Given the description of an element on the screen output the (x, y) to click on. 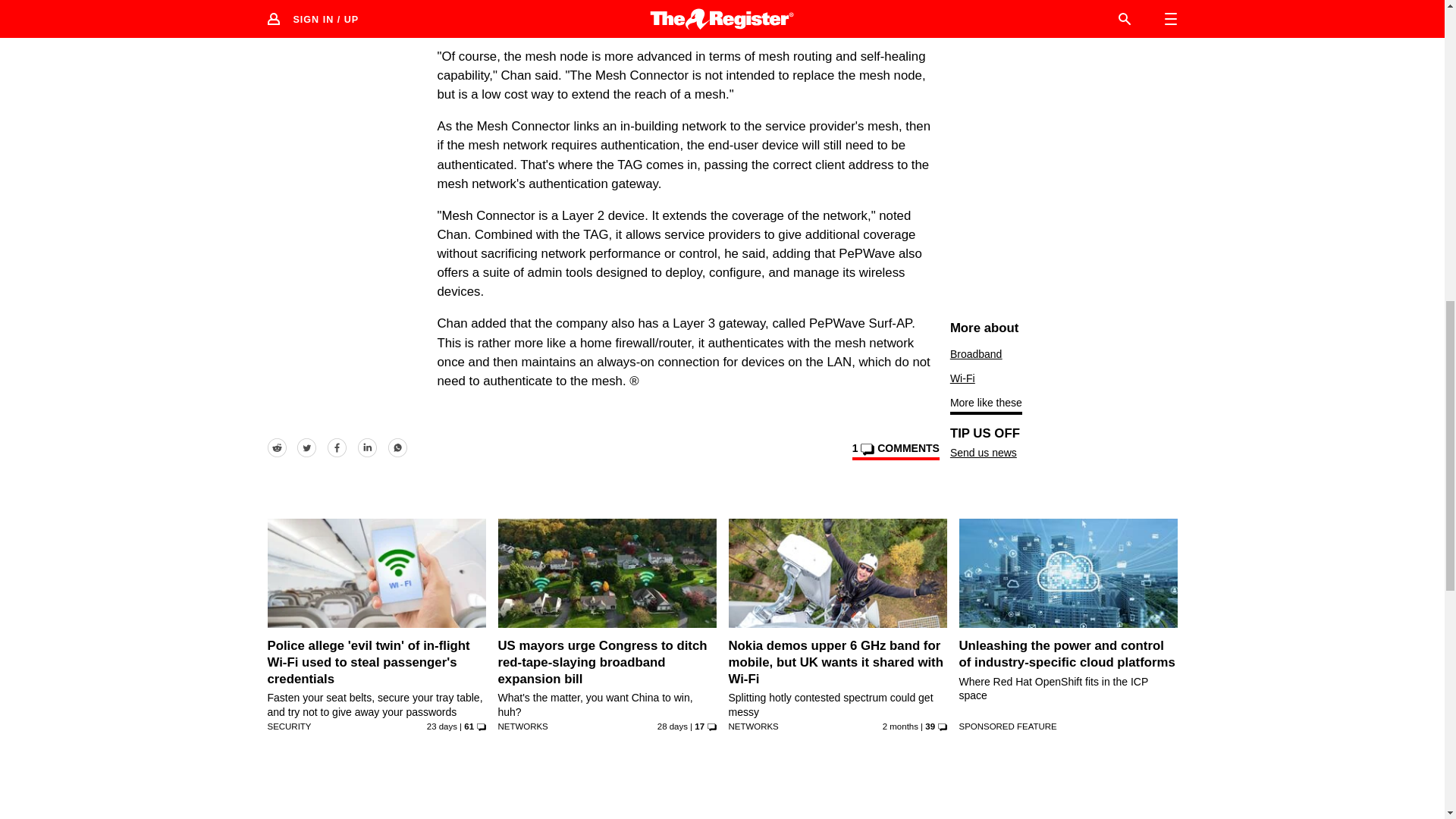
View comments on this article (895, 451)
1 Jul 2024 5:45 (441, 726)
25 Jun 2024 22:20 (672, 726)
5 Jun 2024 10:27 (900, 726)
